Given the description of an element on the screen output the (x, y) to click on. 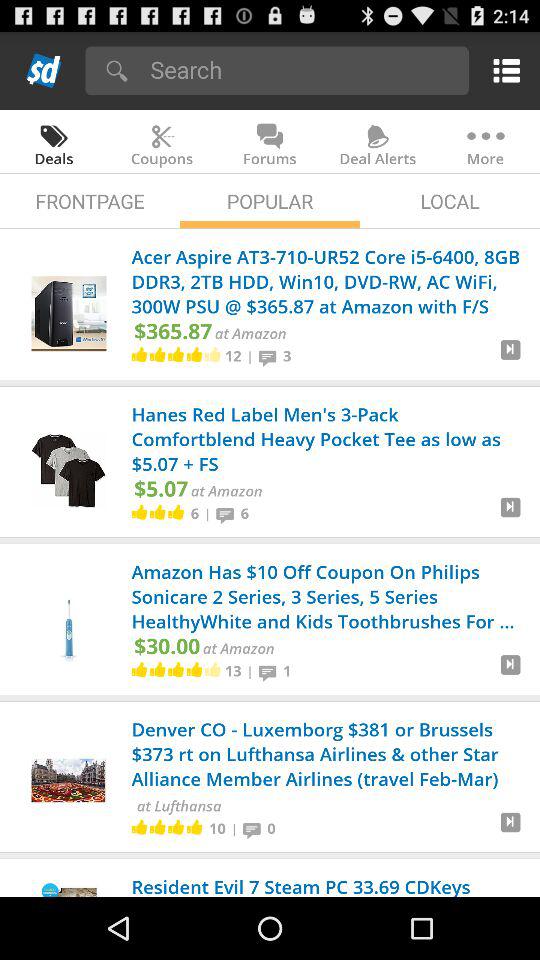
open the deal (510, 357)
